Given the description of an element on the screen output the (x, y) to click on. 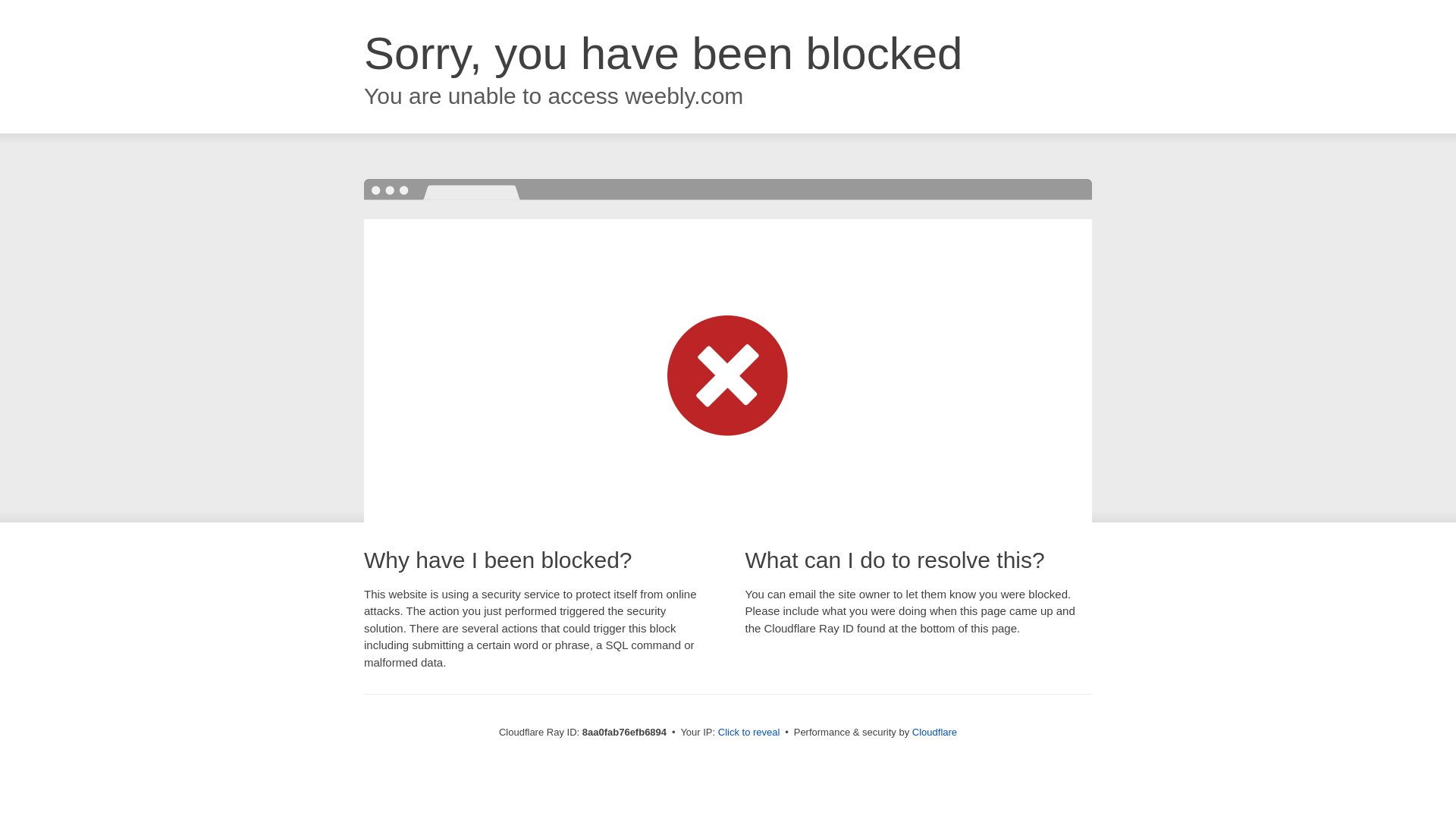
Cloudflare (934, 731)
Click to reveal (748, 732)
